Given the description of an element on the screen output the (x, y) to click on. 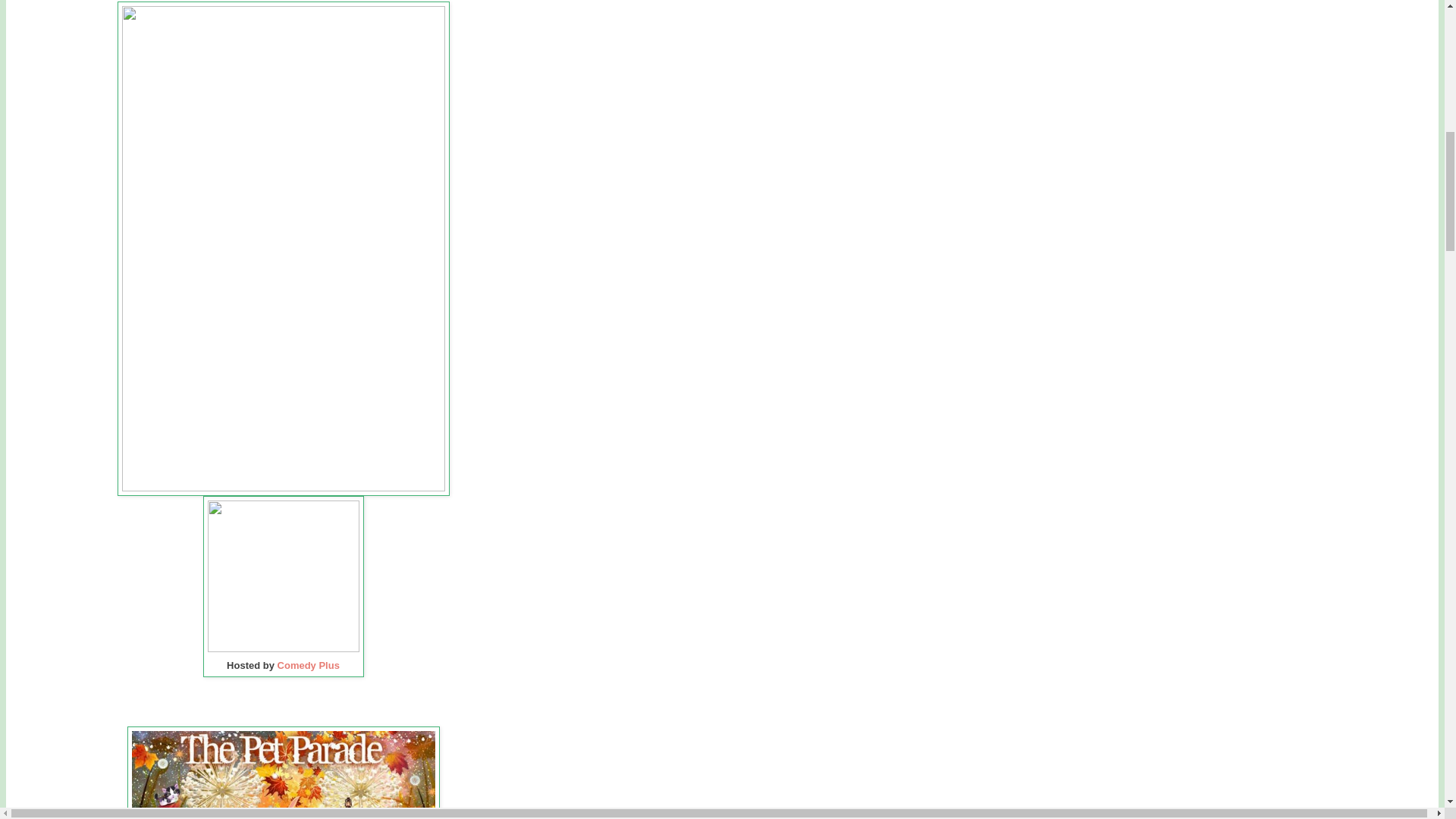
Comedy Plus (307, 665)
